Given the description of an element on the screen output the (x, y) to click on. 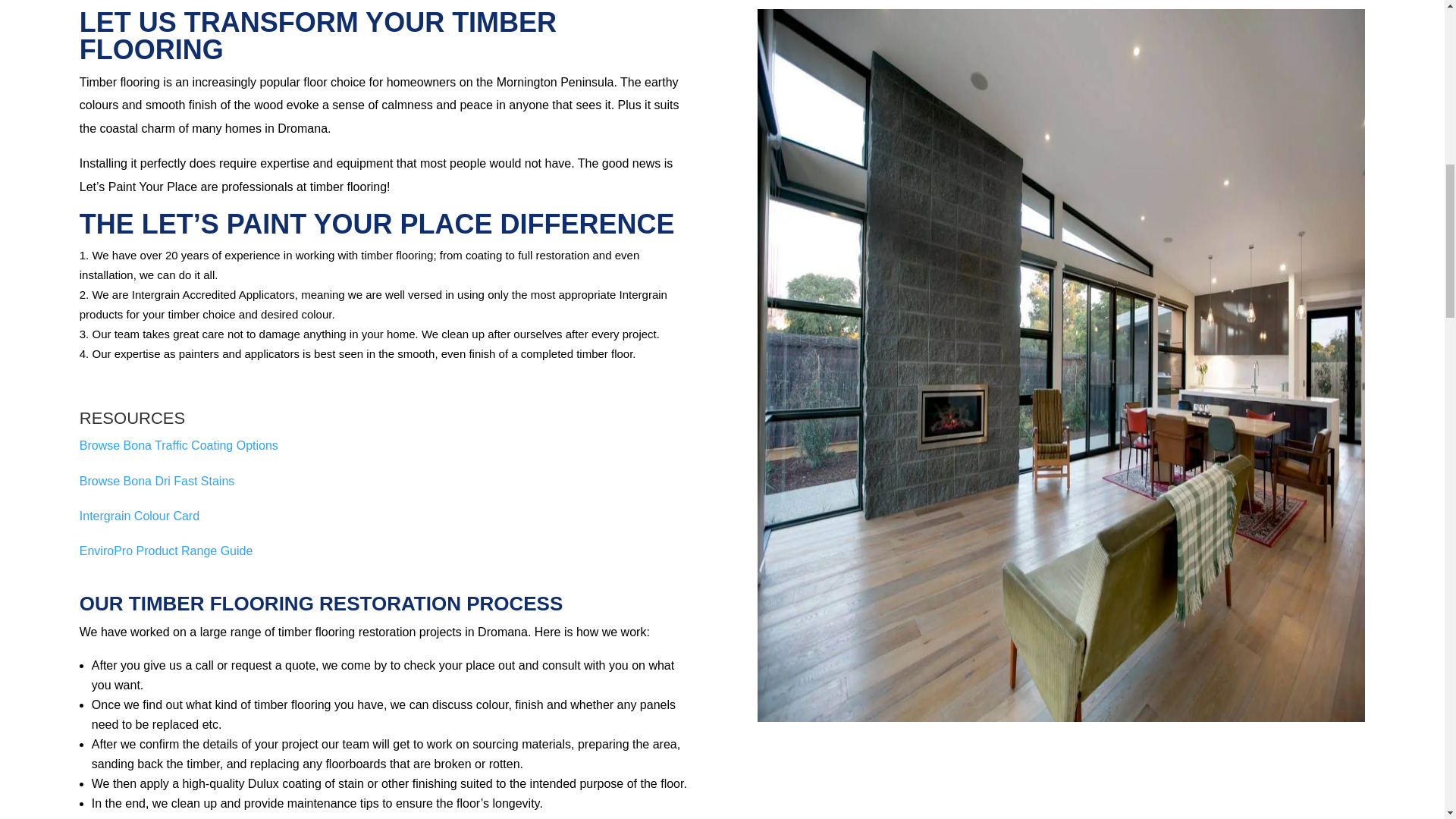
Browse Bona Traffic Coating Options (179, 445)
Intergrain Colour Card (139, 515)
EnviroPro Product Range Guide (166, 550)
Browse Bona Dri Fast Stains (157, 481)
